Given the description of an element on the screen output the (x, y) to click on. 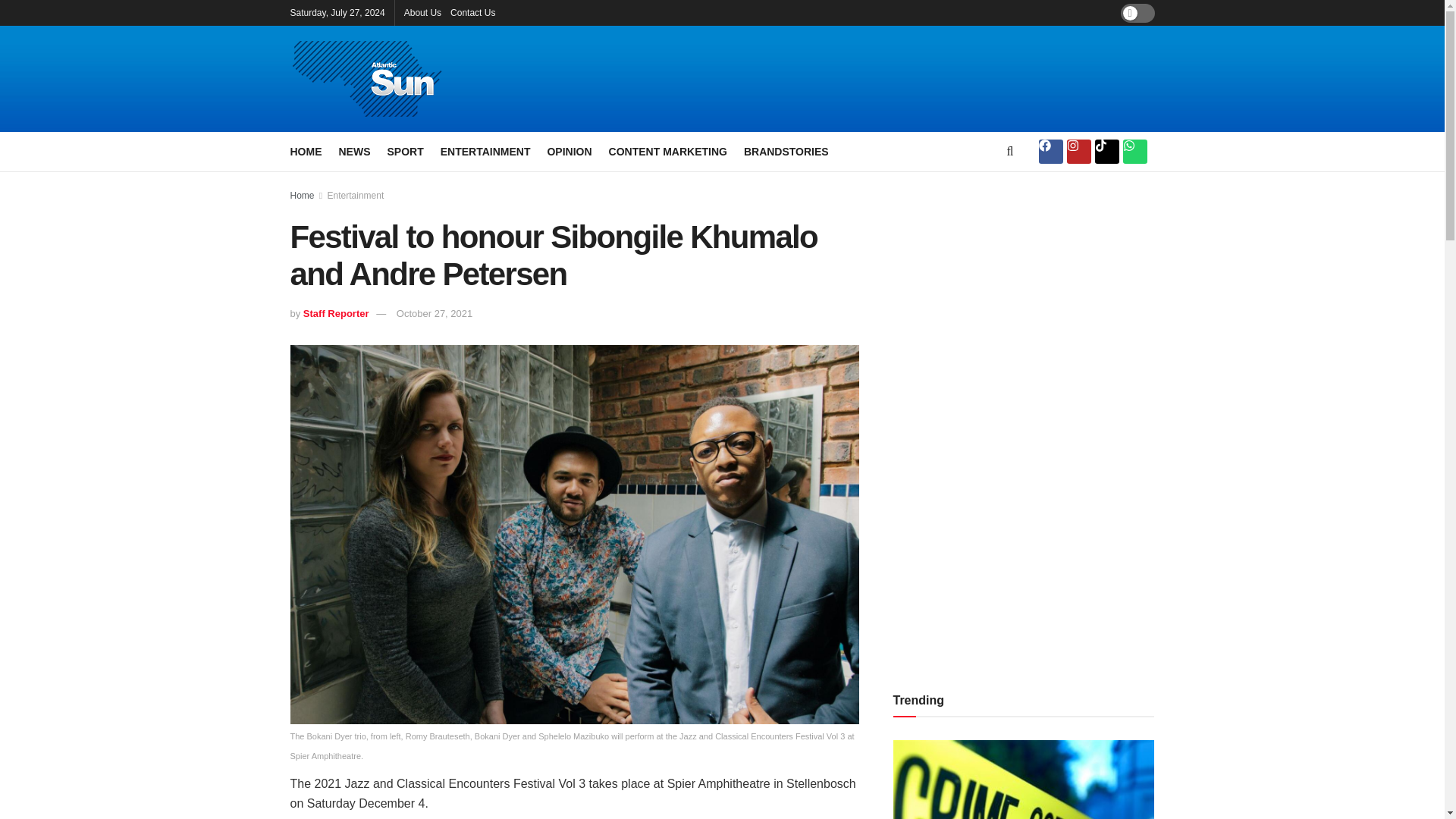
CONTENT MARKETING (667, 151)
Contact Us (472, 12)
Home (301, 195)
HOME (305, 151)
Entertainment (355, 195)
OPINION (569, 151)
BRANDSTORIES (786, 151)
NEWS (353, 151)
About Us (422, 12)
ENTERTAINMENT (486, 151)
SPORT (405, 151)
3rd party ad content (888, 79)
October 27, 2021 (433, 313)
Staff Reporter (335, 313)
